Given the description of an element on the screen output the (x, y) to click on. 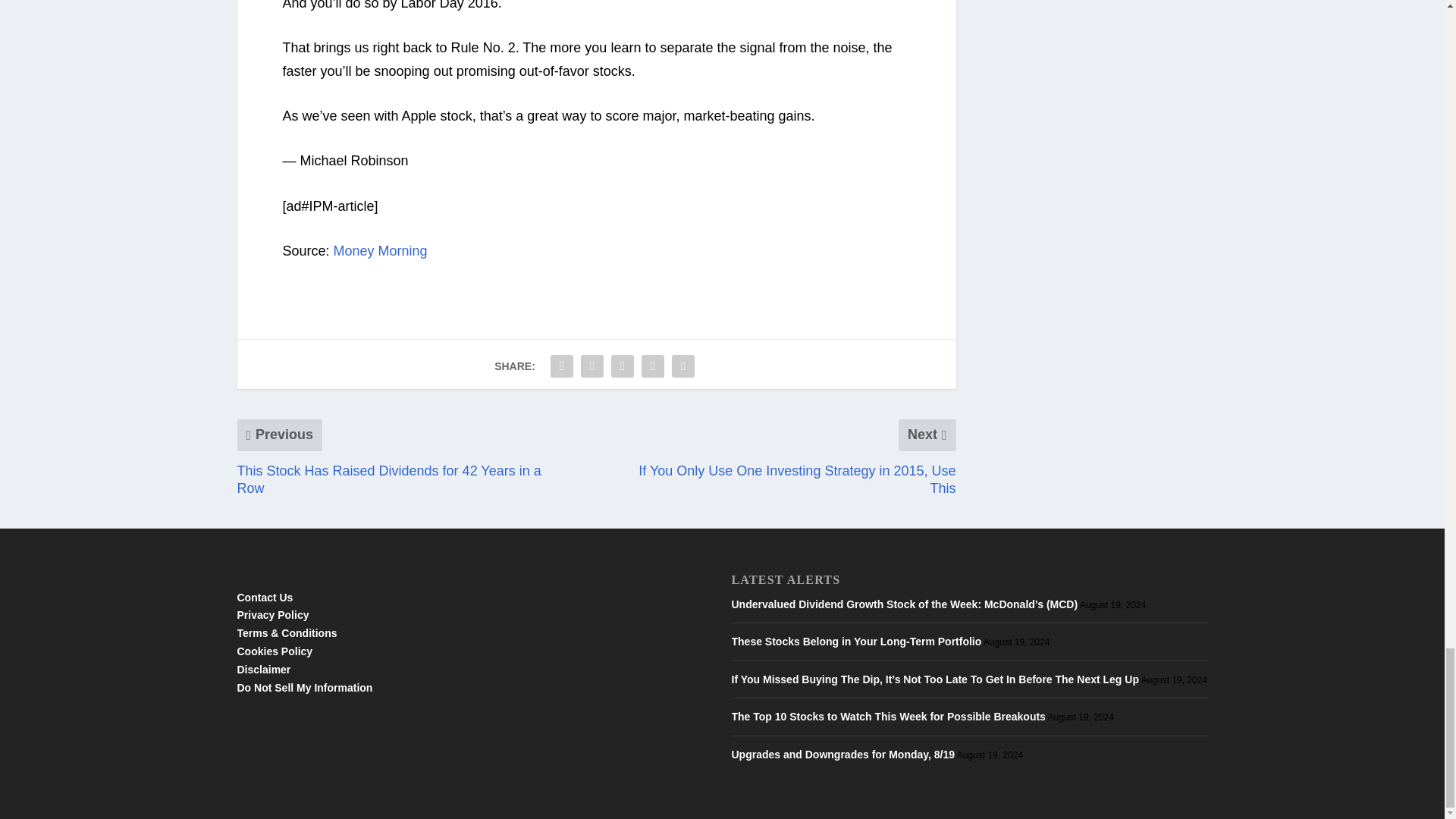
Money Morning (380, 250)
The Top 10 Stocks to Watch This Week for Possible Breakouts (887, 716)
Cookies Policy (274, 651)
Do Not Sell My Information (303, 687)
Disclaimer (262, 669)
These Stocks Belong in Your Long-Term Portfolio (855, 641)
Privacy Policy (271, 614)
Contact Us (263, 597)
